Given the description of an element on the screen output the (x, y) to click on. 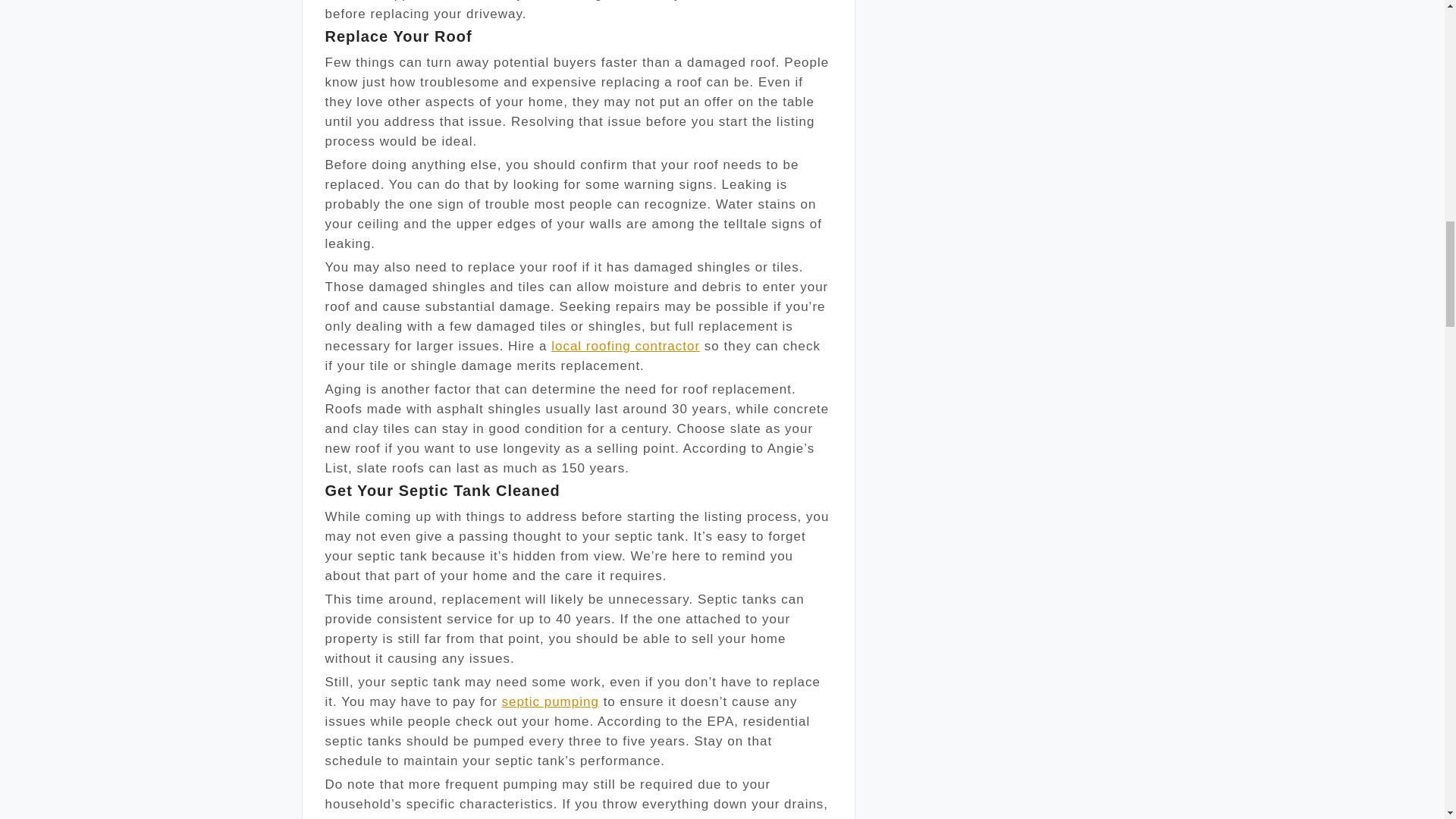
local roofing contractor (625, 345)
septic pumping (550, 701)
